Given the description of an element on the screen output the (x, y) to click on. 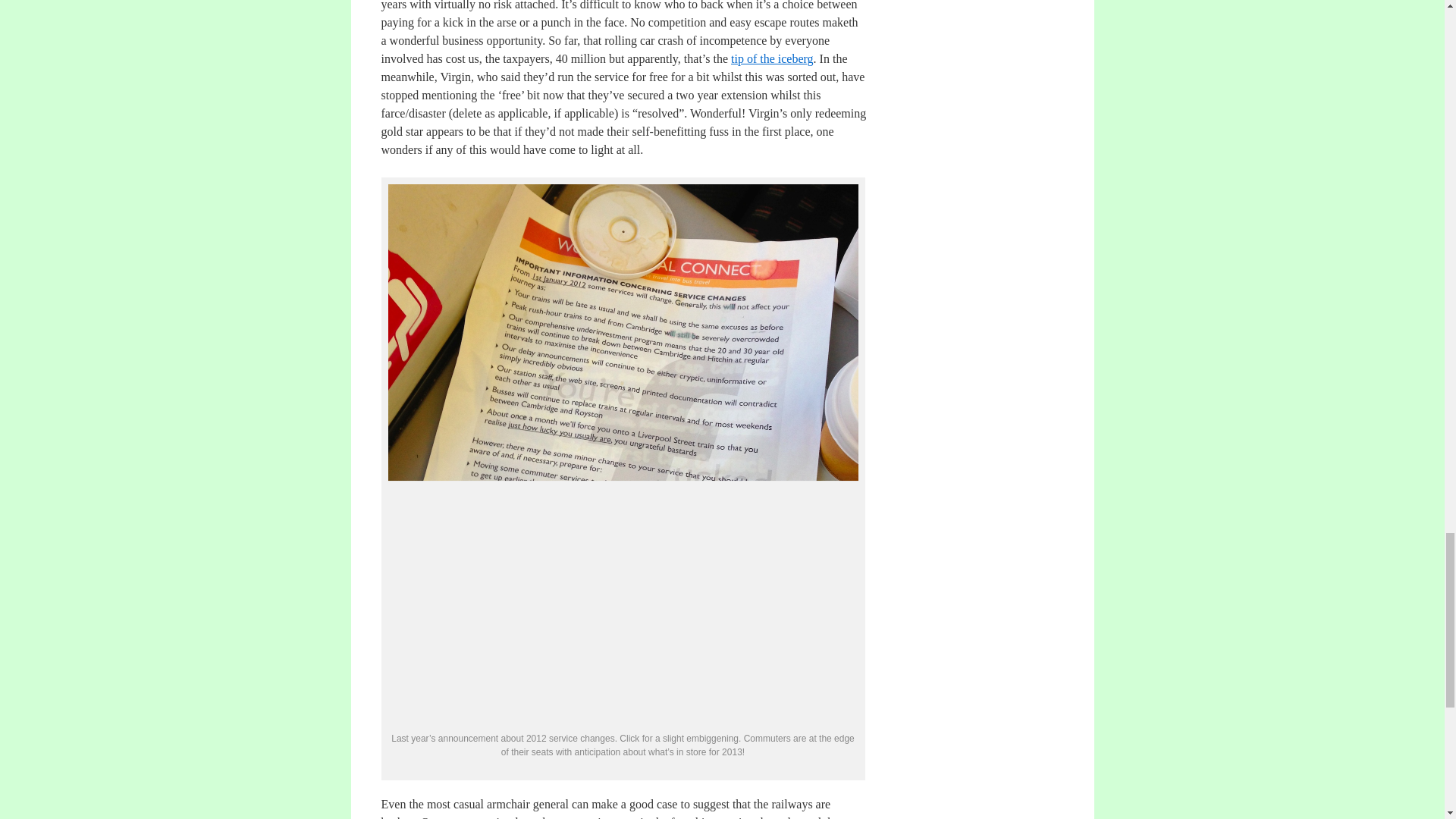
tip of the iceberg (771, 58)
